Given the description of an element on the screen output the (x, y) to click on. 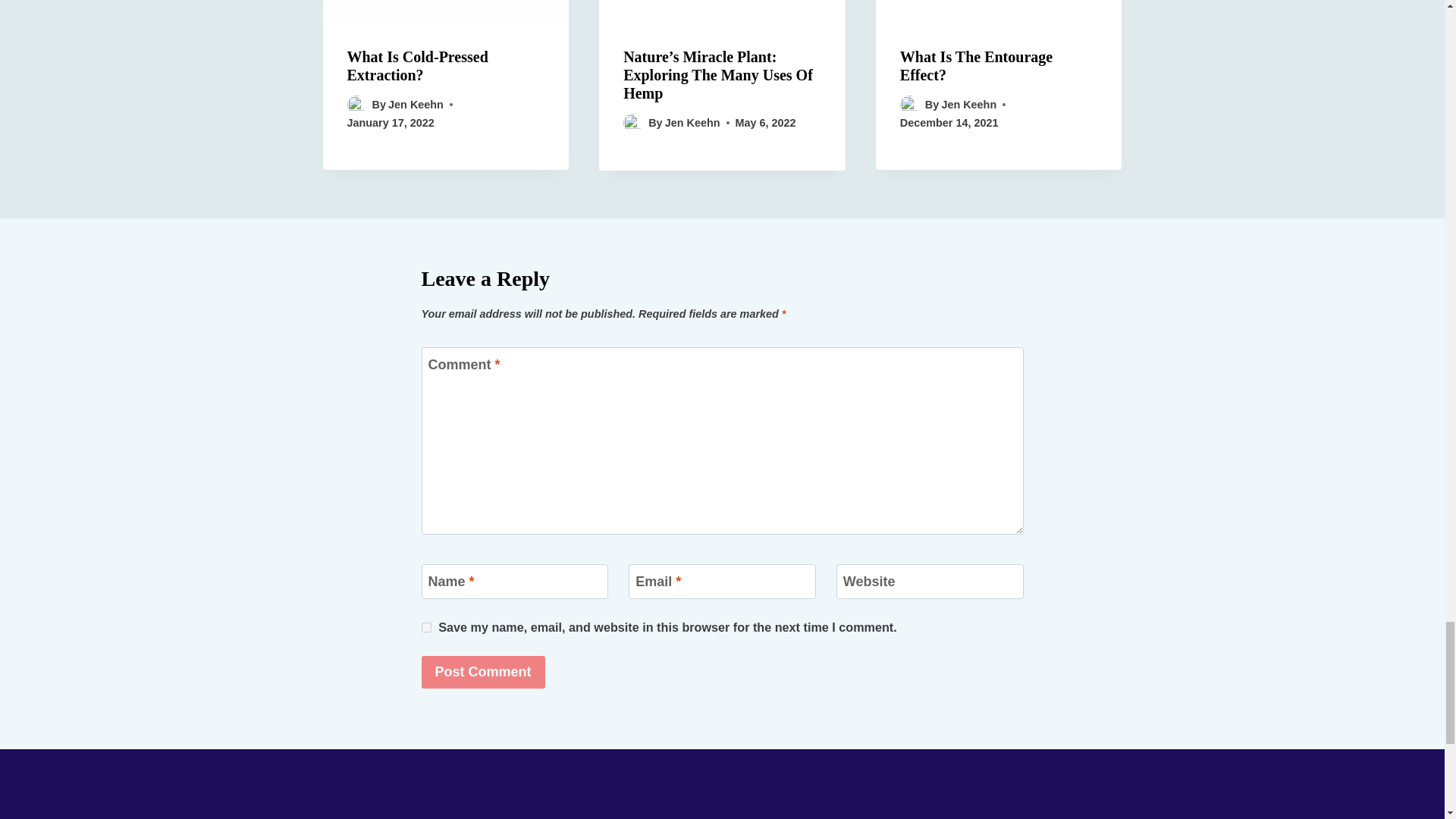
Jen Keehn (416, 104)
Post Comment (483, 672)
What Is Cold-Pressed Extraction? (417, 65)
yes (426, 627)
